Given the description of an element on the screen output the (x, y) to click on. 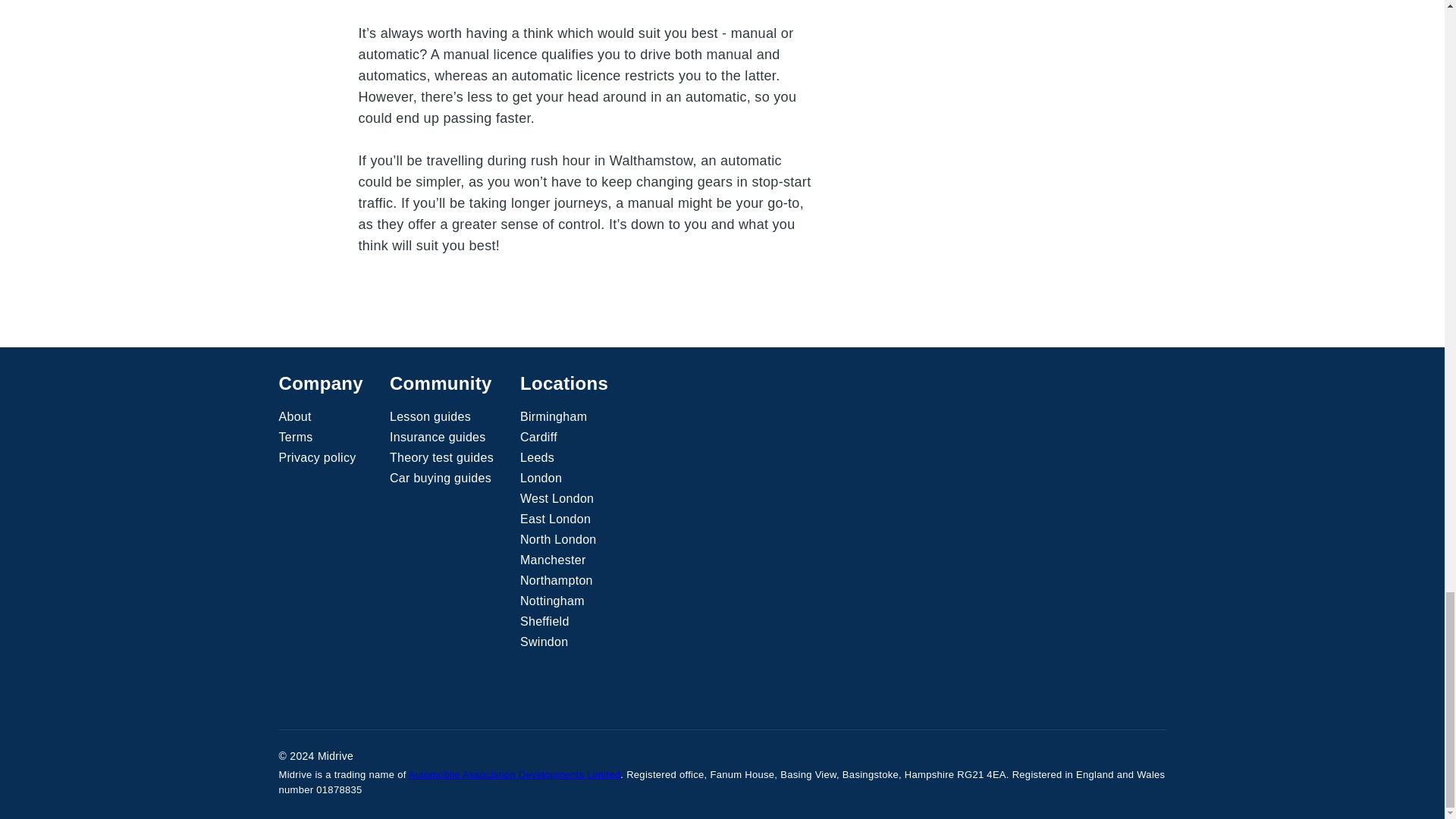
North London (557, 539)
Sheffield (544, 621)
Car buying guides (441, 478)
Leeds (536, 457)
Insurance guides (438, 437)
Northampton (555, 580)
Manchester (552, 560)
Birmingham (552, 416)
Privacy policy (317, 457)
Automobile Association Developments Limited (515, 774)
